Given the description of an element on the screen output the (x, y) to click on. 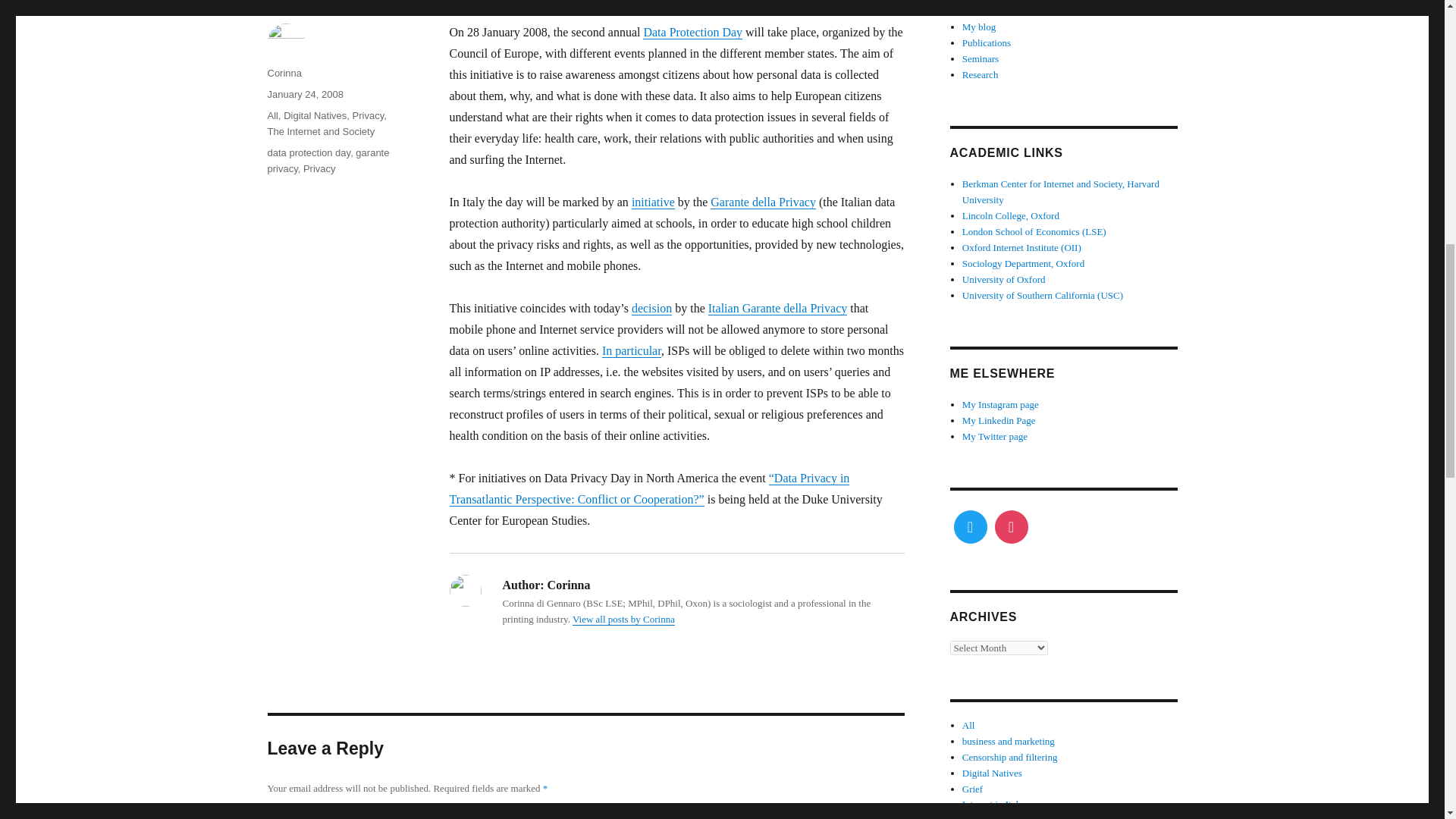
Lincoln College, Oxford (1010, 215)
Privacy (368, 115)
In particular (631, 350)
decision (651, 308)
About me (981, 10)
garante privacy (327, 160)
data protection day (308, 152)
View all posts by Corinna (623, 618)
Publications (986, 42)
Garante della Privacy (762, 201)
